Given the description of an element on the screen output the (x, y) to click on. 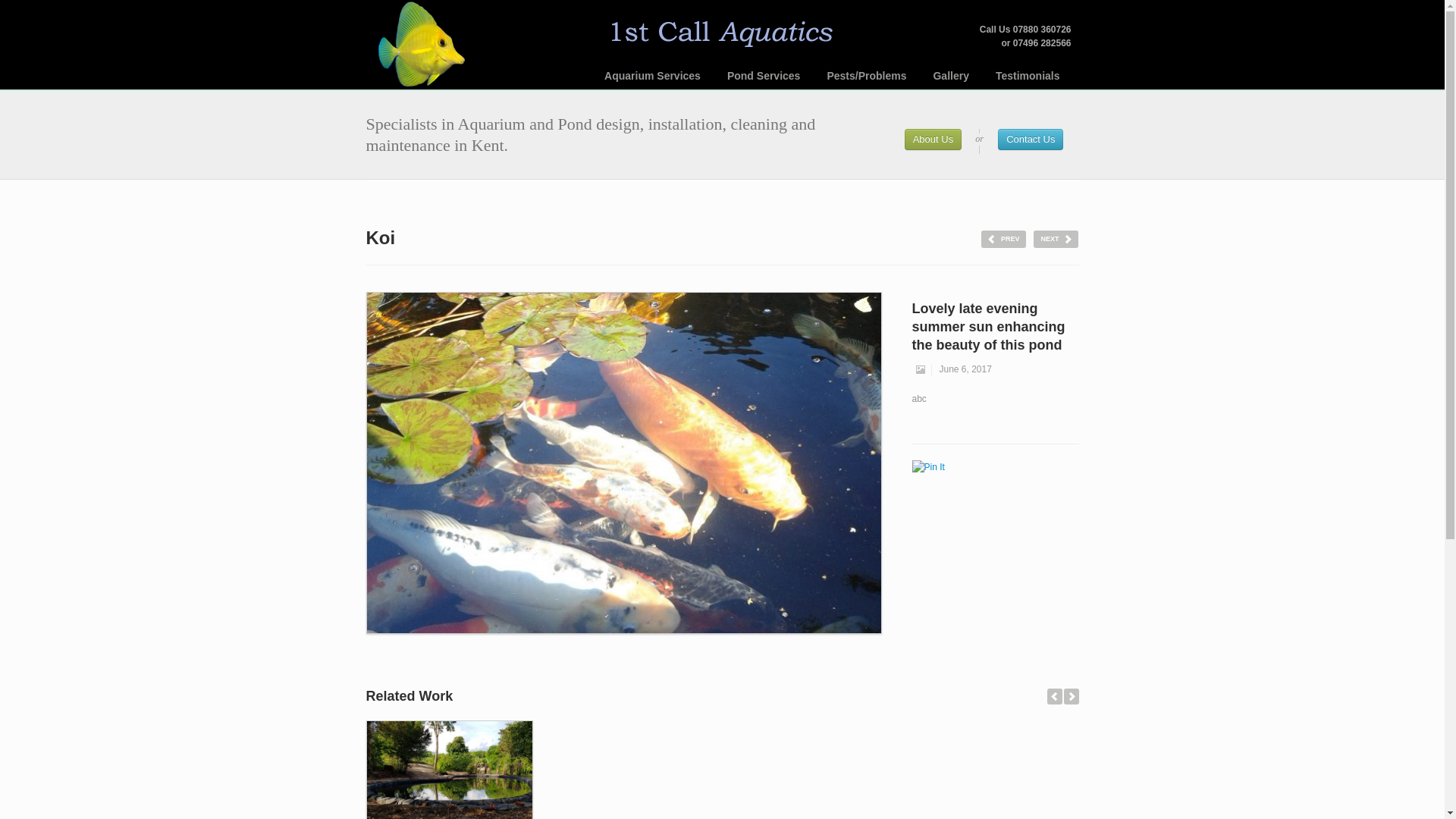
PREV (1003, 239)
Pond Services (763, 76)
Home (418, 44)
About Us (932, 138)
Contact Us (1029, 138)
Gallery (949, 76)
Testimonials (1027, 76)
NEXT (1055, 239)
Pin It (927, 467)
Aquarium Services (651, 76)
June 6, 2017 (961, 369)
